Given the description of an element on the screen output the (x, y) to click on. 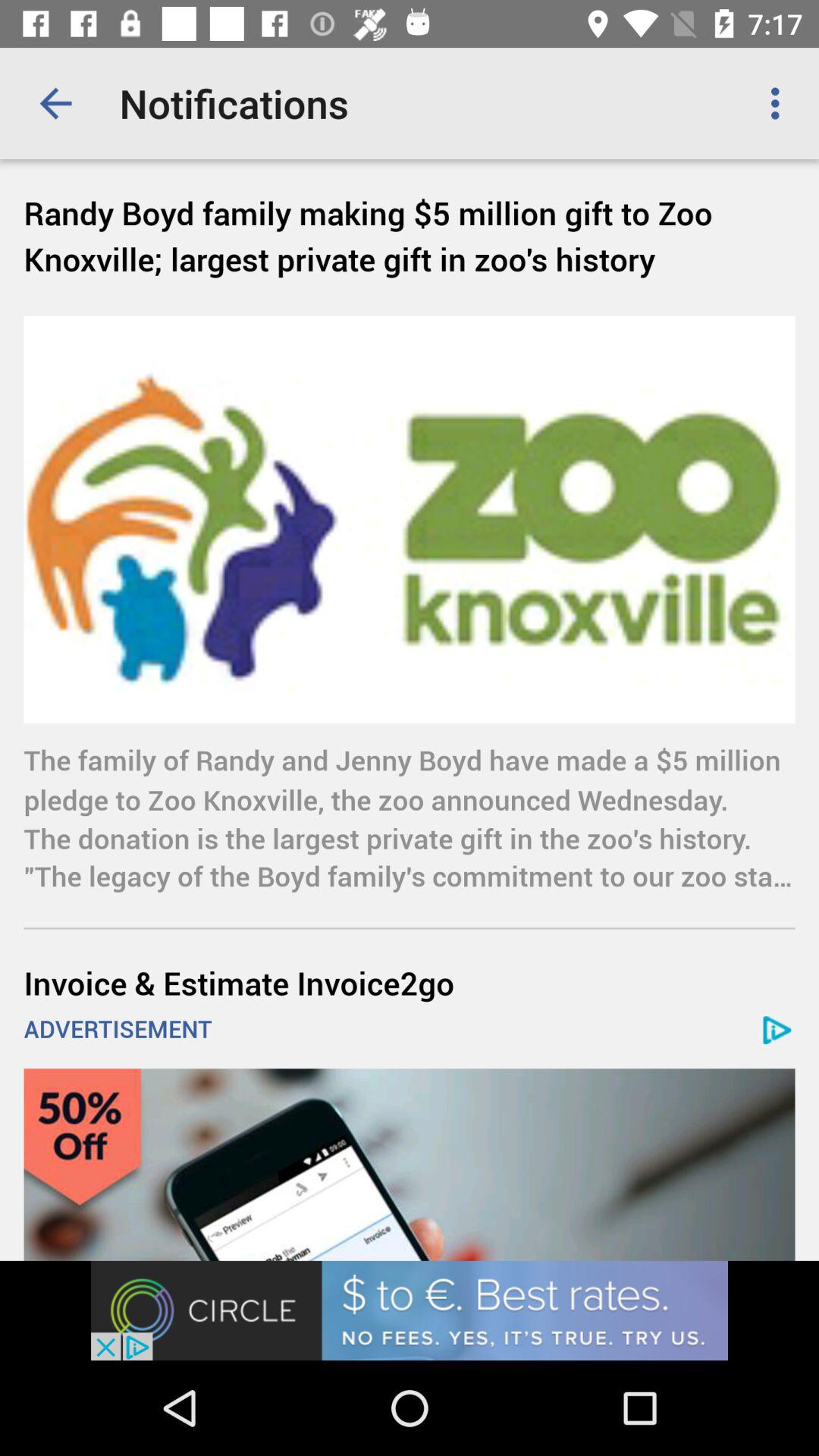
go to advertisement (409, 1310)
